Given the description of an element on the screen output the (x, y) to click on. 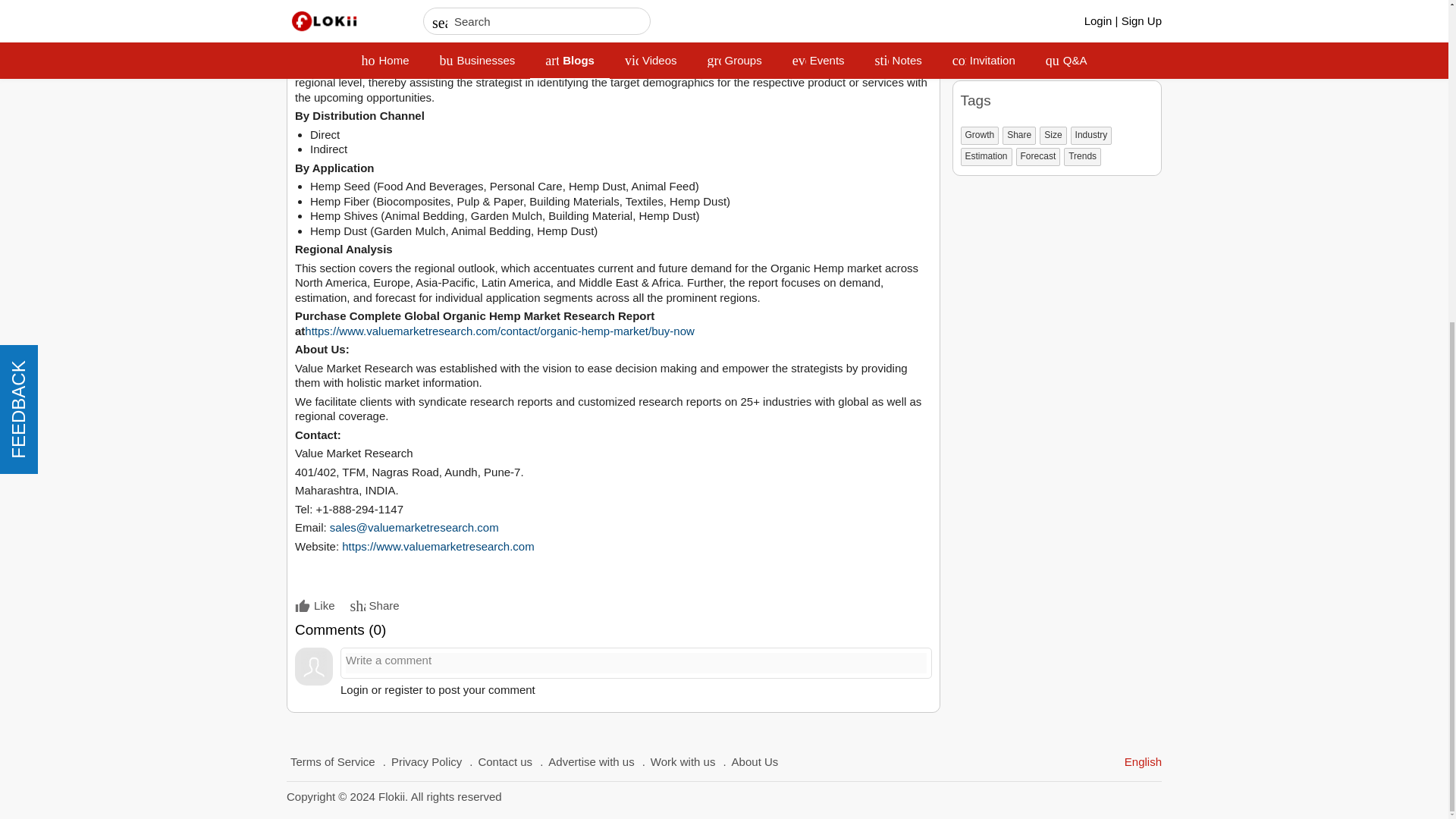
Language (1142, 761)
Share (1019, 135)
Growth (978, 135)
